Given the description of an element on the screen output the (x, y) to click on. 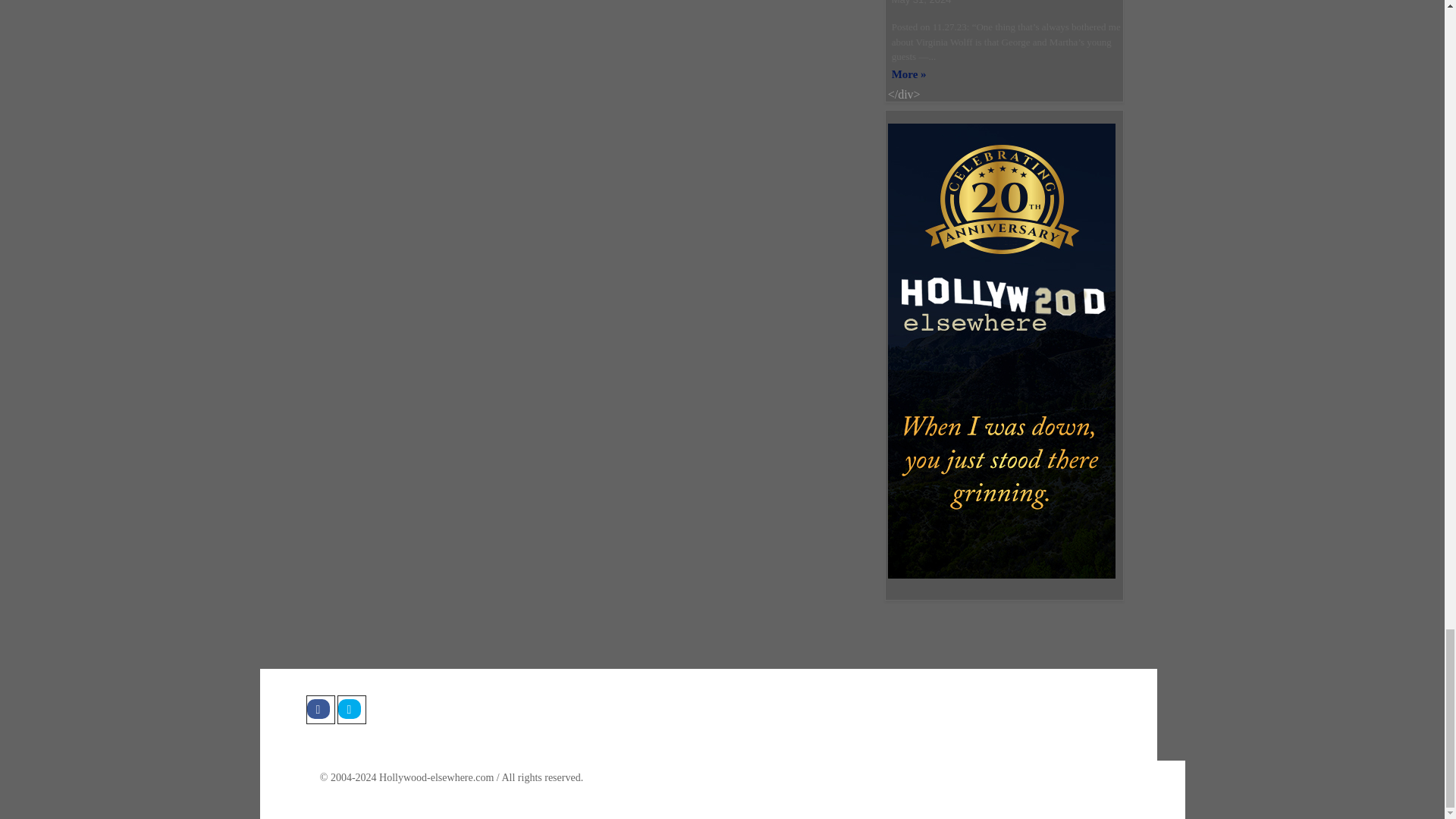
Twitter (350, 709)
Facebook (319, 709)
